Given the description of an element on the screen output the (x, y) to click on. 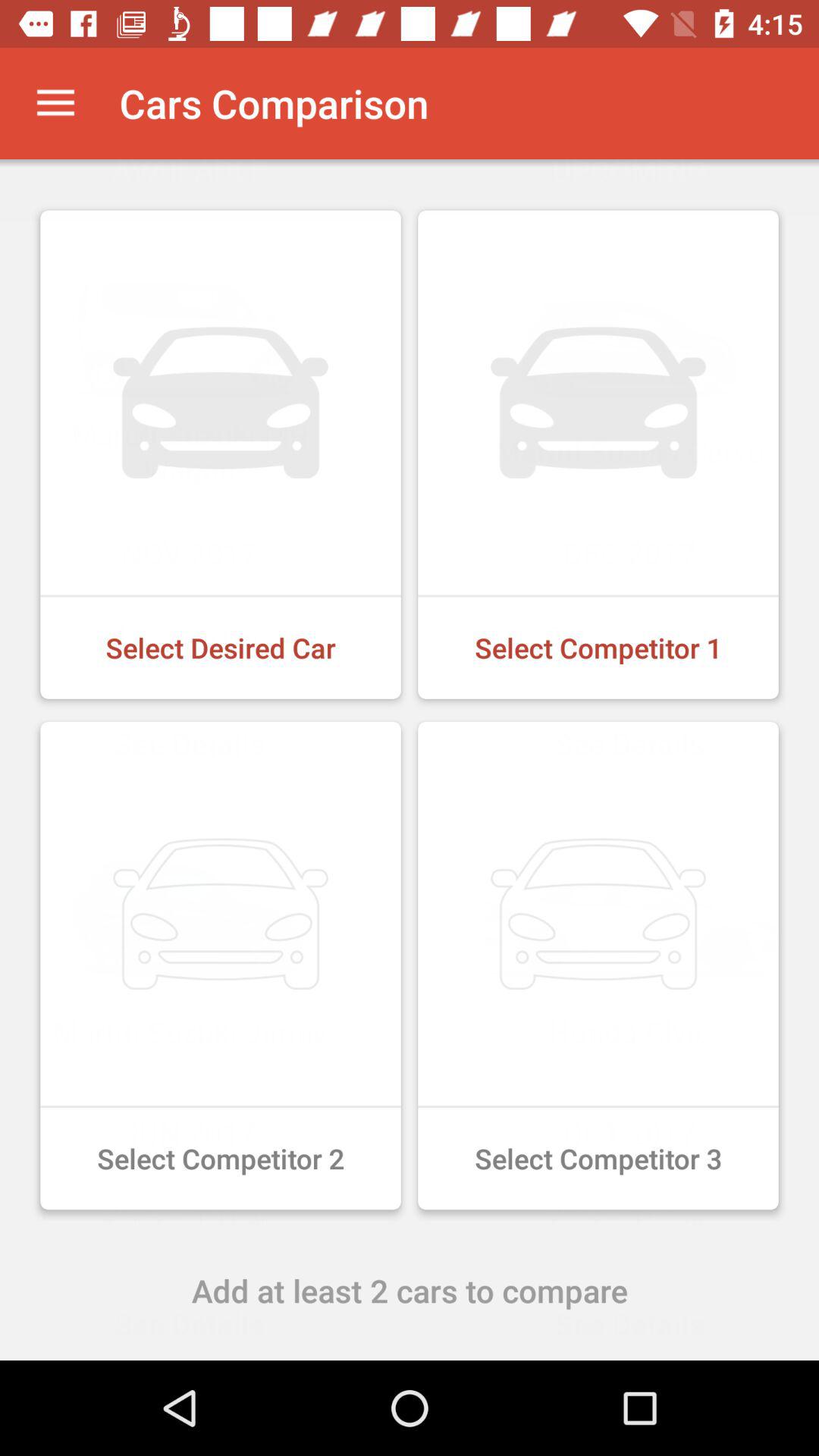
select the image below the button select desired car on the web page (220, 965)
